Given the description of an element on the screen output the (x, y) to click on. 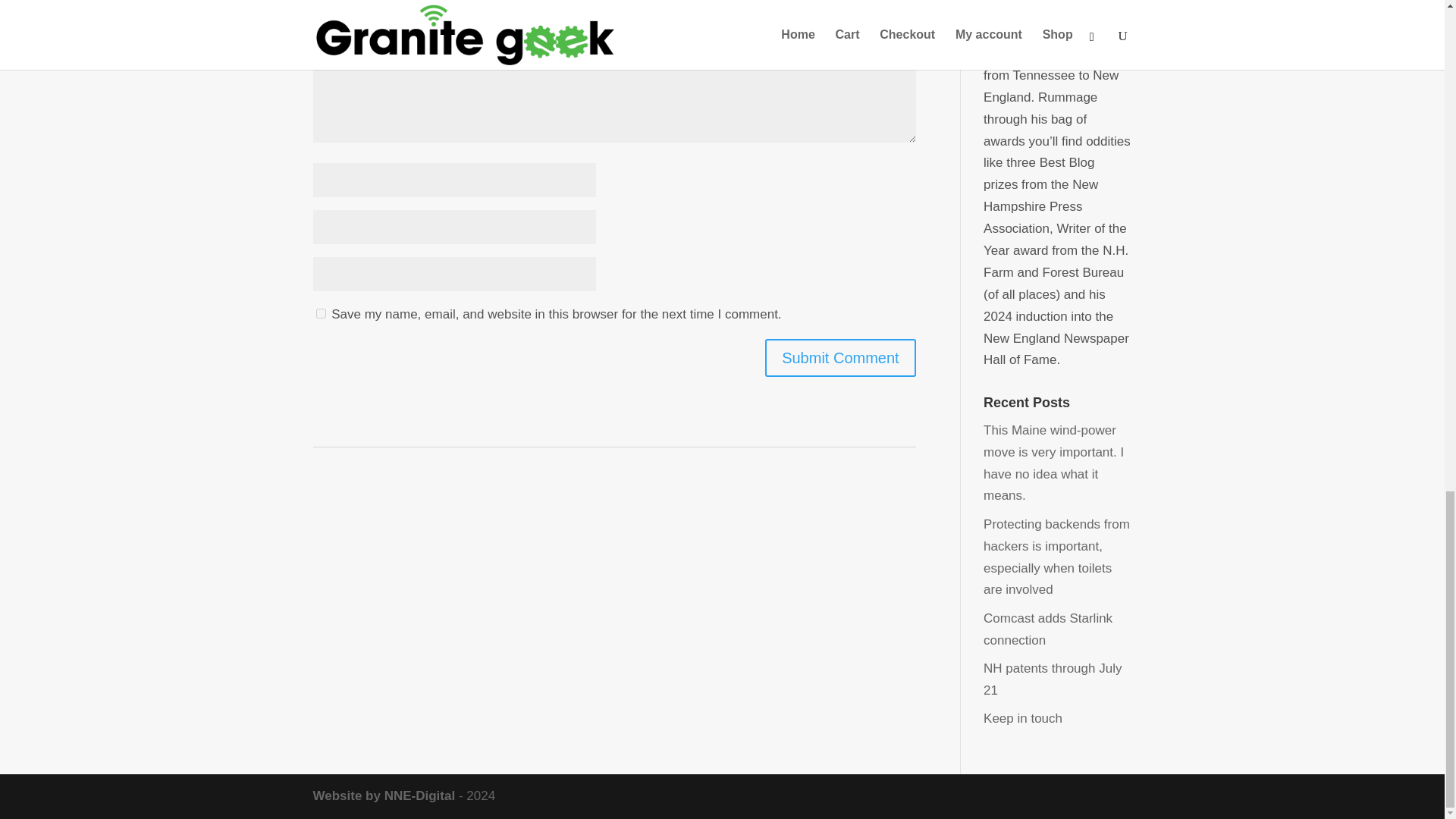
Keep in touch (1023, 718)
NH patents through July 21 (1052, 678)
Submit Comment (840, 357)
yes (319, 313)
Submit Comment (840, 357)
Comcast adds Starlink connection (1048, 628)
Website by NNE-Digital (383, 795)
